Given the description of an element on the screen output the (x, y) to click on. 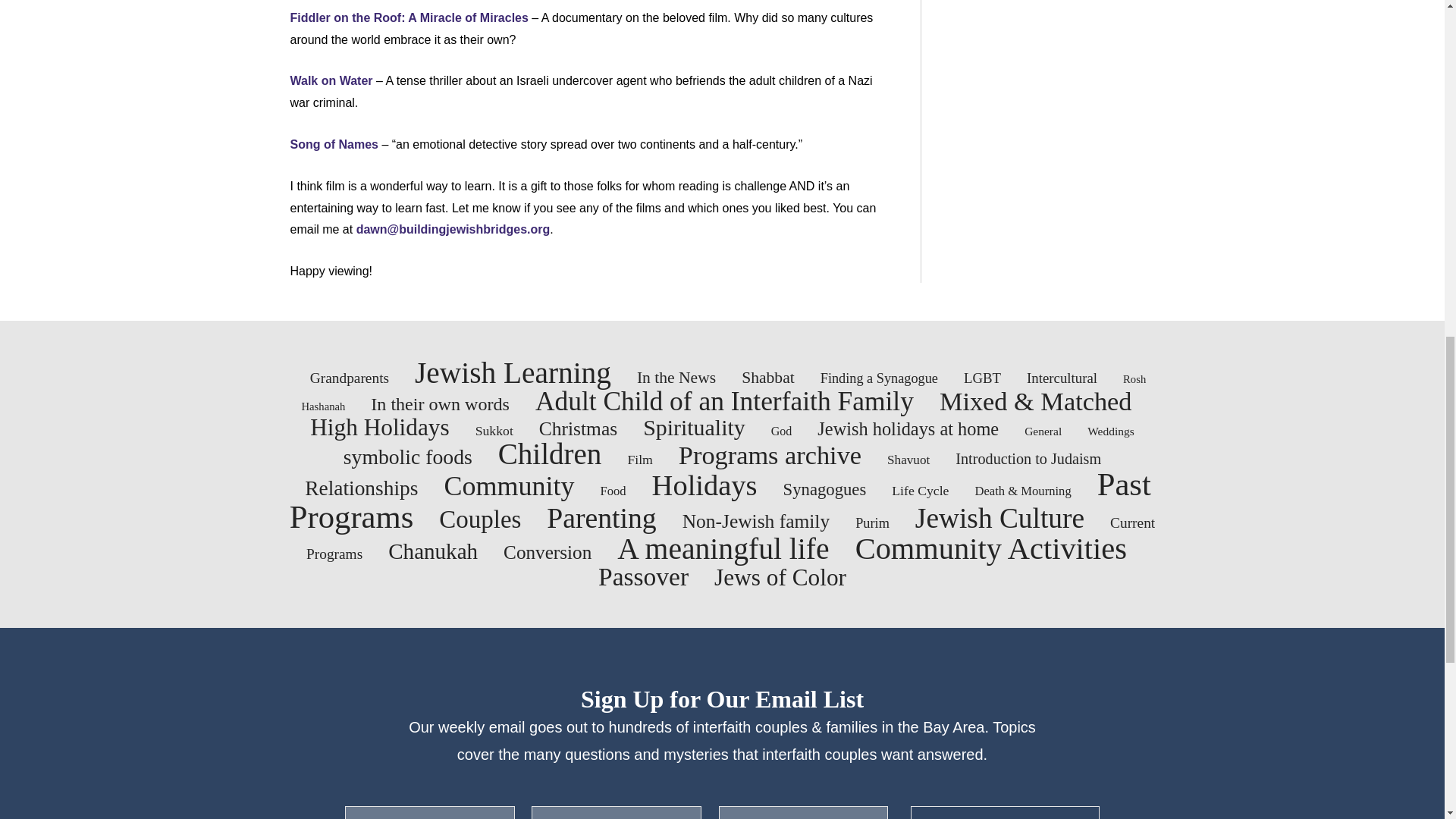
Fiddler on the Roof: A Miracle of Miracles (408, 17)
Walk on Water (330, 80)
Sign Up (1005, 812)
Grandparents (349, 377)
Shabbat (767, 377)
Finding a Synagogue (879, 378)
Intercultural (1061, 377)
In the News (676, 377)
Jewish Learning (512, 372)
Song of Names (333, 144)
LGBT (982, 377)
